Given the description of an element on the screen output the (x, y) to click on. 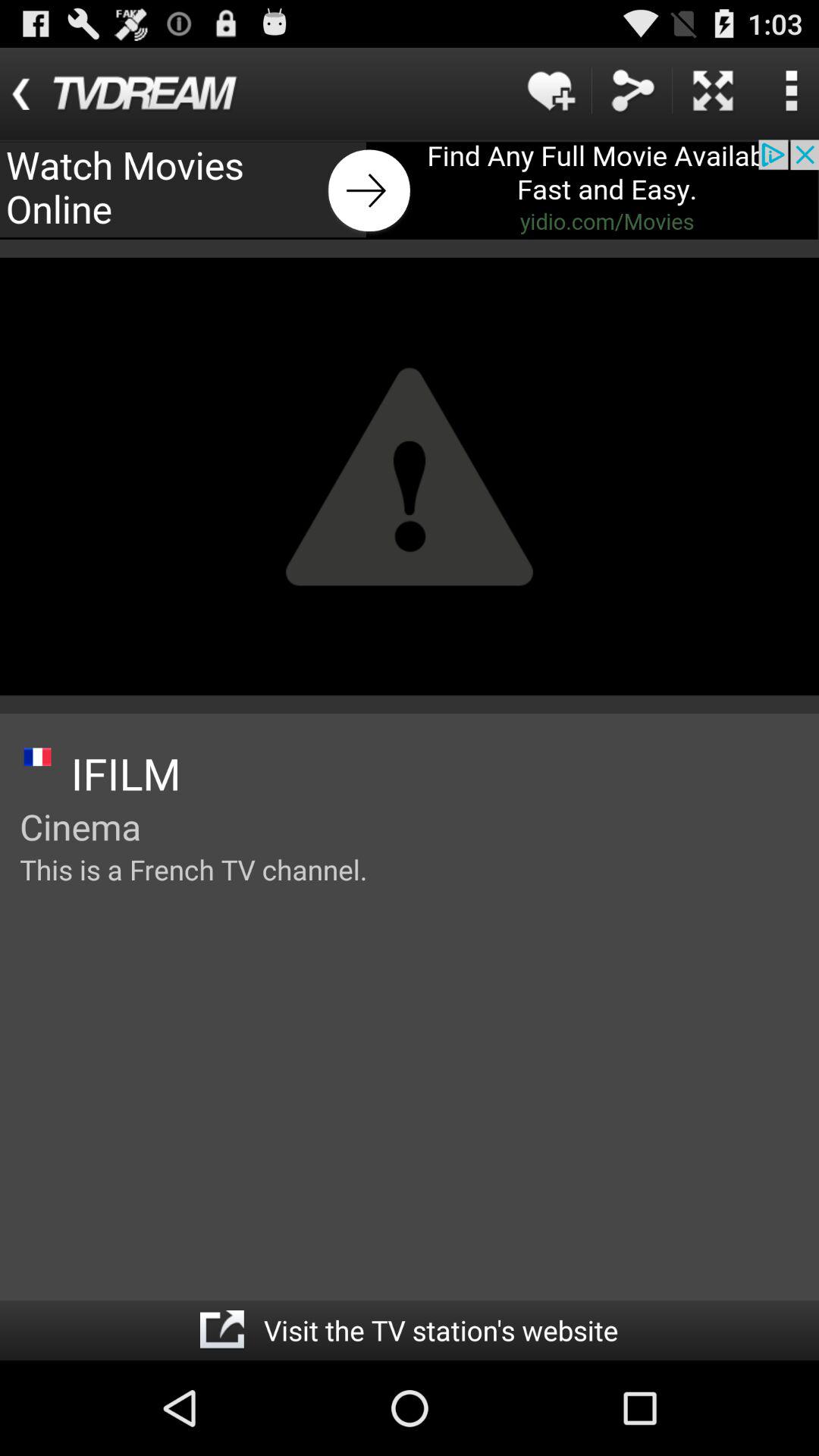
share on social media (632, 90)
